Given the description of an element on the screen output the (x, y) to click on. 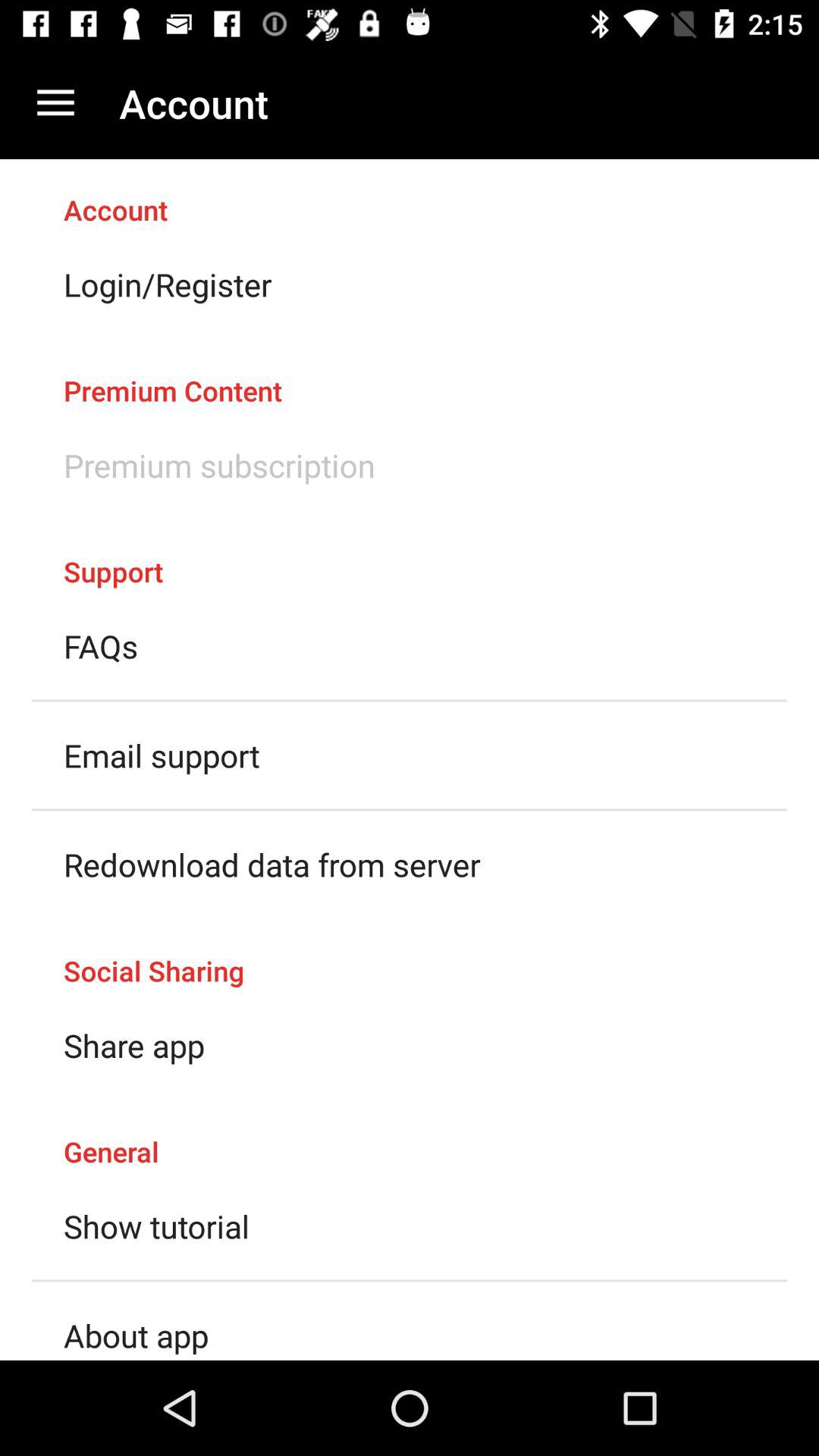
choose item below show tutorial item (135, 1335)
